Given the description of an element on the screen output the (x, y) to click on. 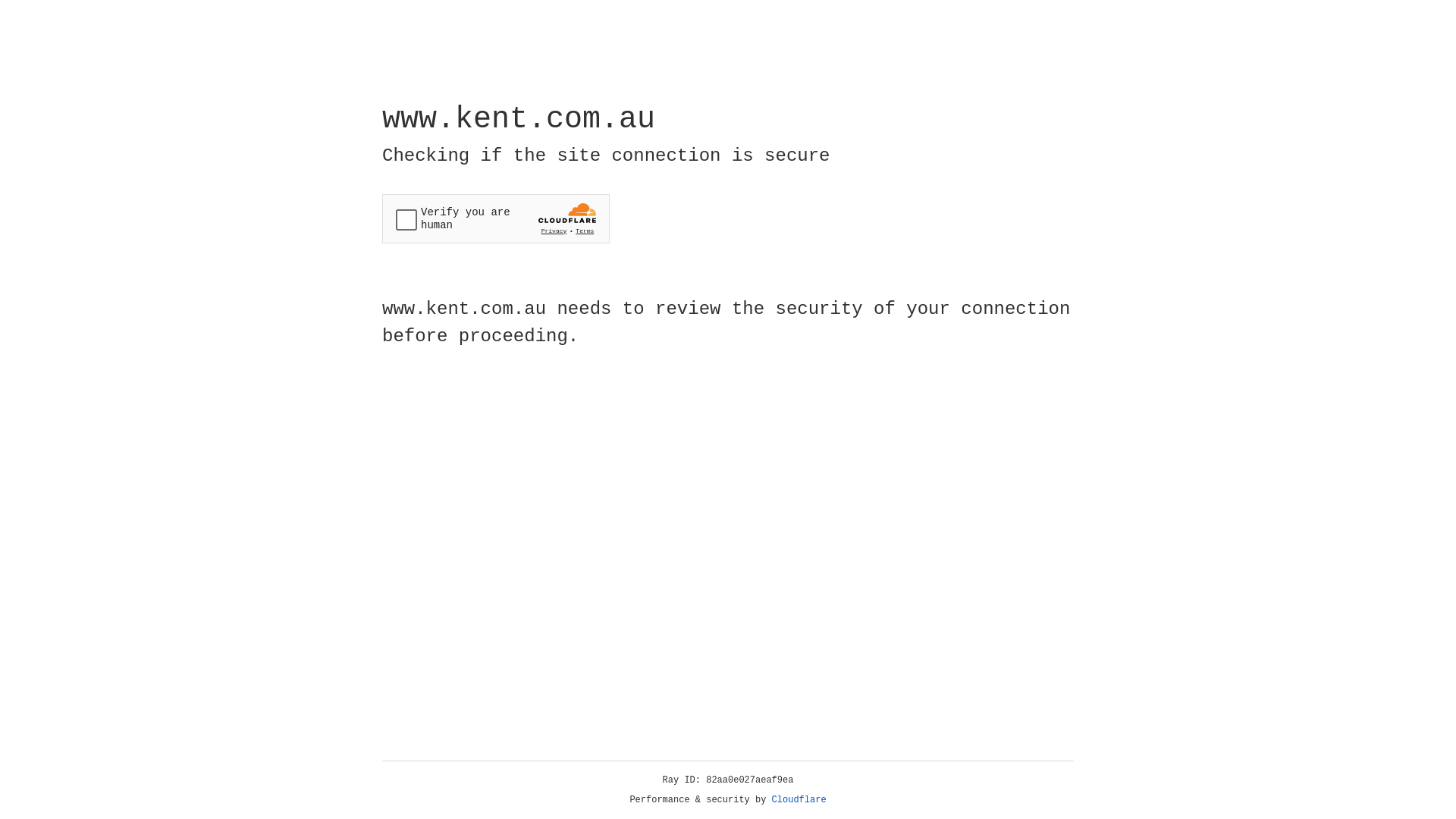
Cloudflare Element type: text (798, 799)
Widget containing a Cloudflare security challenge Element type: hover (495, 218)
